Given the description of an element on the screen output the (x, y) to click on. 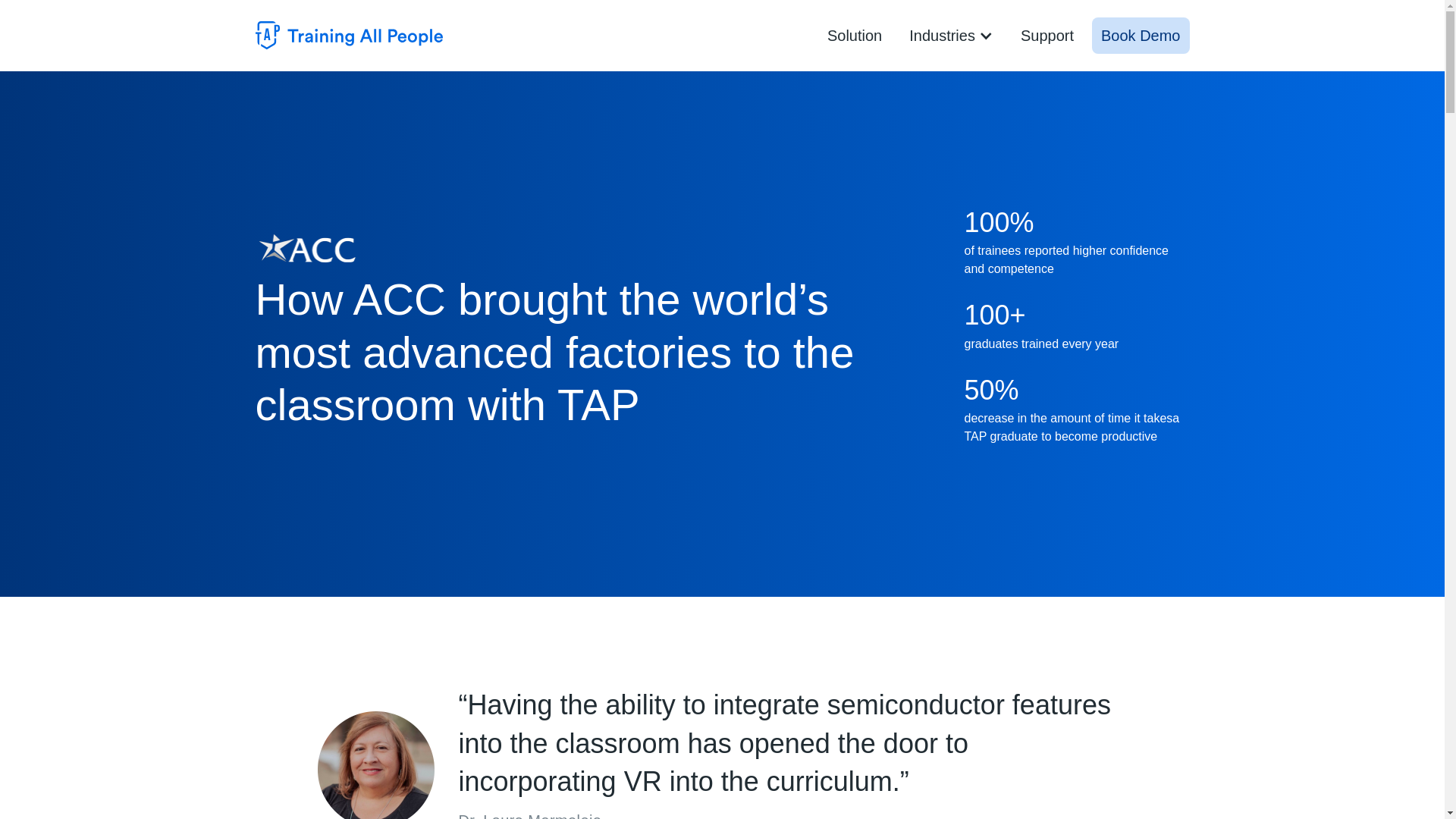
Support (1047, 35)
Book Demo (1140, 35)
Solution (854, 35)
